Given the description of an element on the screen output the (x, y) to click on. 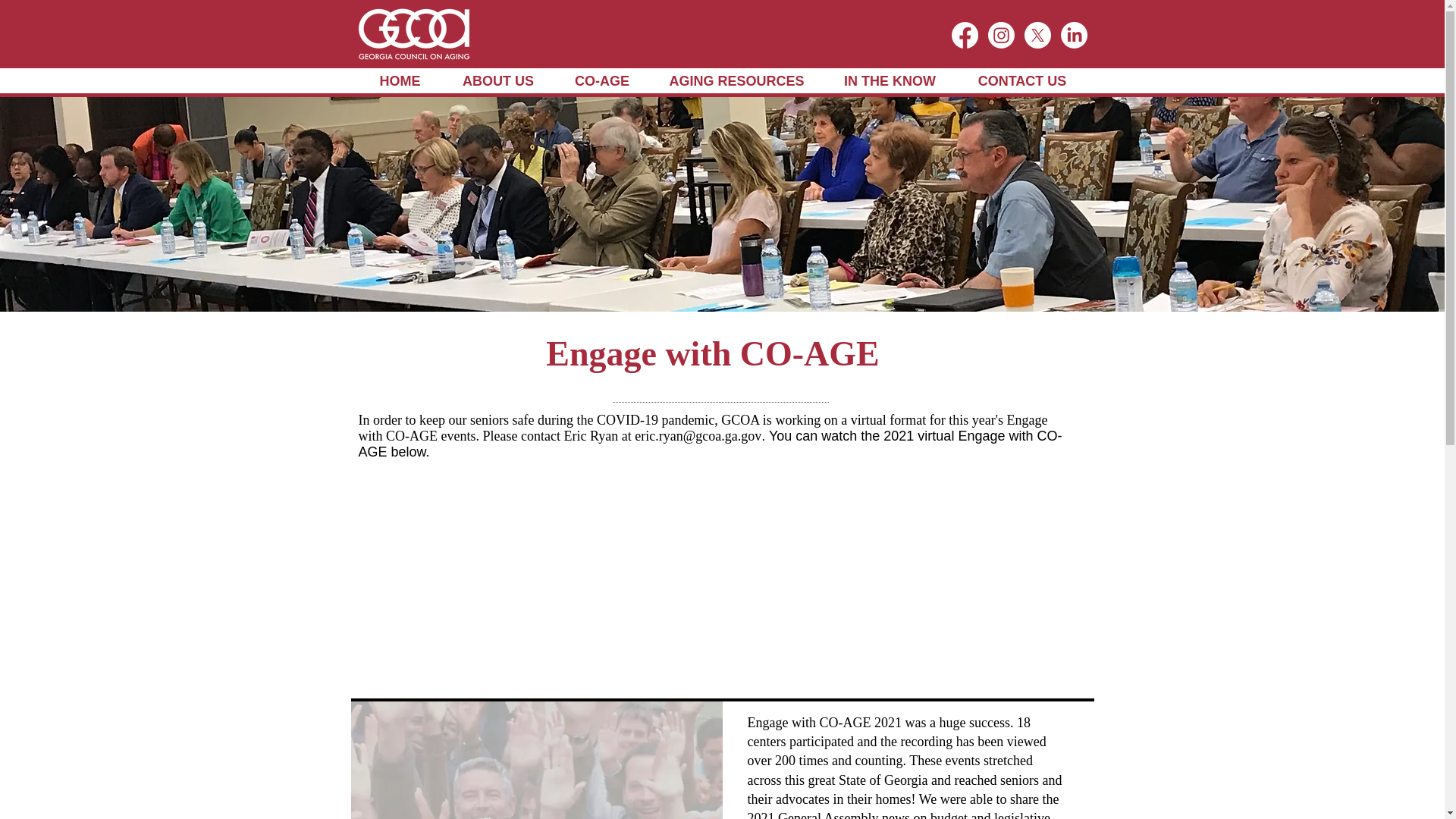
CONTACT US (1021, 81)
HOME (399, 81)
AGING RESOURCES (736, 81)
